Given the description of an element on the screen output the (x, y) to click on. 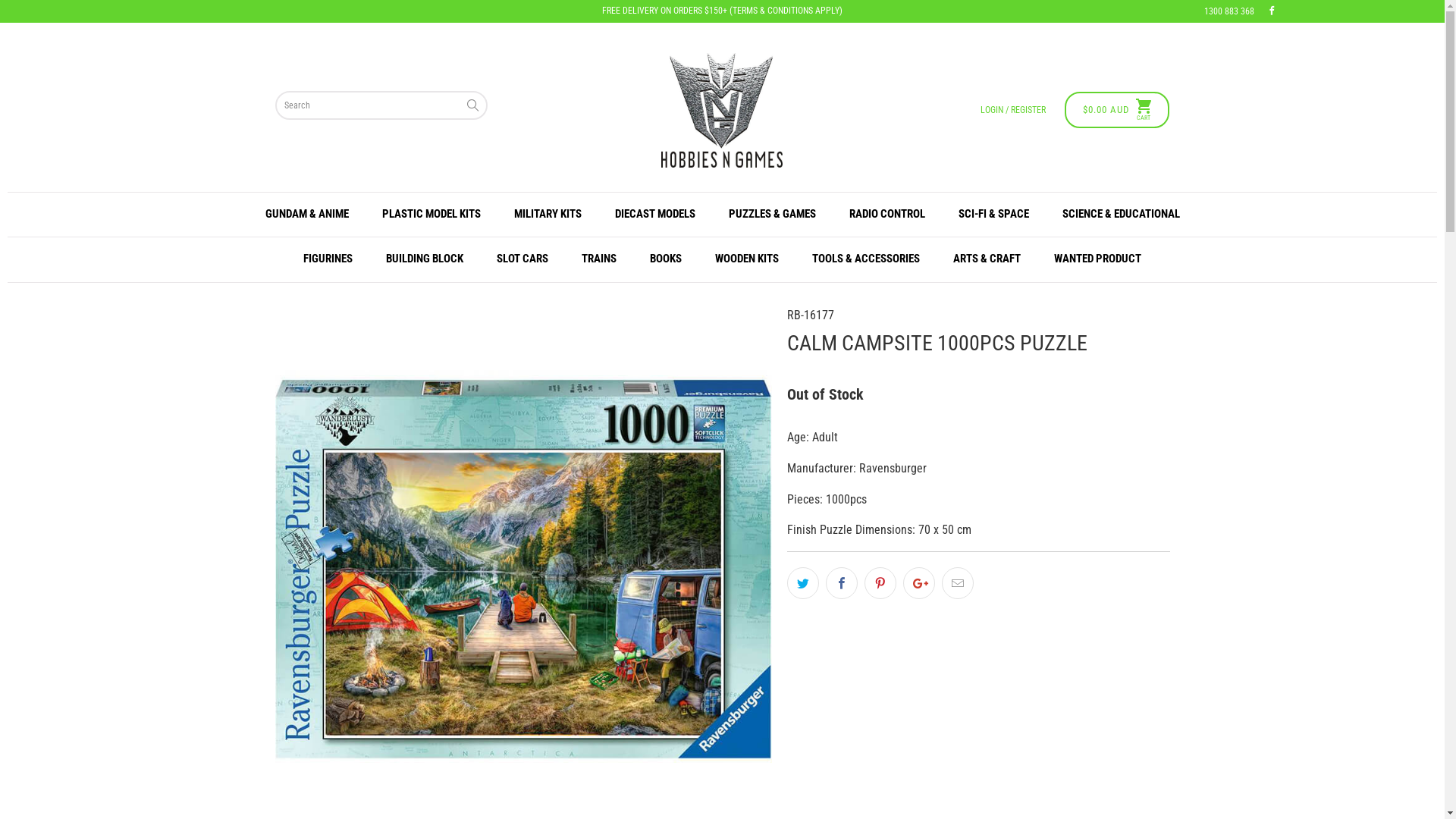
Hobbies N Games on Facebook Element type: hover (1271, 11)
WOODEN KITS Element type: text (746, 259)
GUNDAM & ANIME Element type: text (306, 214)
PUZZLES & GAMES Element type: text (771, 214)
WANTED PRODUCT Element type: text (1097, 259)
TERMS & CONDITIONS APPLY Element type: text (785, 10)
Hobbies N Games Element type: hover (721, 110)
PLASTIC MODEL KITS Element type: text (431, 214)
$0.00 AUD CREATED WITH SKETCH.
CART Element type: text (1118, 109)
SCIENCE & EDUCATIONAL Element type: text (1120, 214)
FIGURINES Element type: text (327, 259)
Share this on Twitter Element type: hover (803, 583)
RADIO CONTROL Element type: text (887, 214)
TOOLS & ACCESSORIES Element type: text (865, 259)
LOGIN / REGISTER Element type: text (1012, 109)
MILITARY KITS Element type: text (547, 214)
BOOKS Element type: text (665, 259)
1300 883 368 Element type: text (1229, 18)
Share this on Google+ Element type: hover (918, 583)
SLOT CARS Element type: text (522, 259)
SCI-FI & SPACE Element type: text (993, 214)
Share this on Pinterest Element type: hover (880, 583)
BUILDING BLOCK Element type: text (424, 259)
DIECAST MODELS Element type: text (654, 214)
ARTS & CRAFT Element type: text (986, 259)
Share this on Facebook Element type: hover (840, 583)
Email this to a friend Element type: hover (957, 583)
TRAINS Element type: text (598, 259)
